Given the description of an element on the screen output the (x, y) to click on. 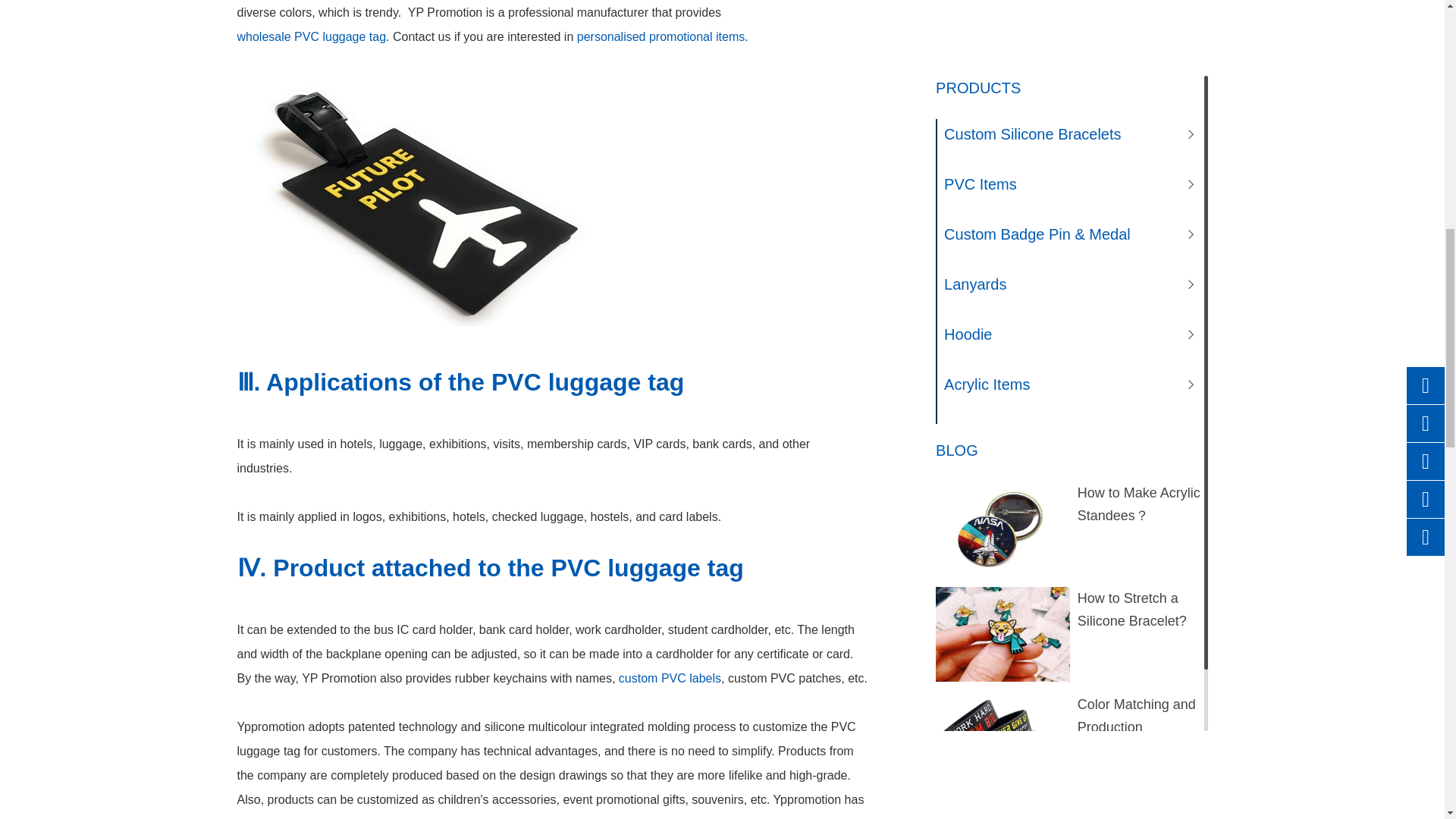
Color Matching and Production Precautions for Enamel Badges (1003, 65)
How to Stretch a Silicone Bracelet? (1003, 2)
Wholesale PVC Luggage Tags (421, 203)
